Given the description of an element on the screen output the (x, y) to click on. 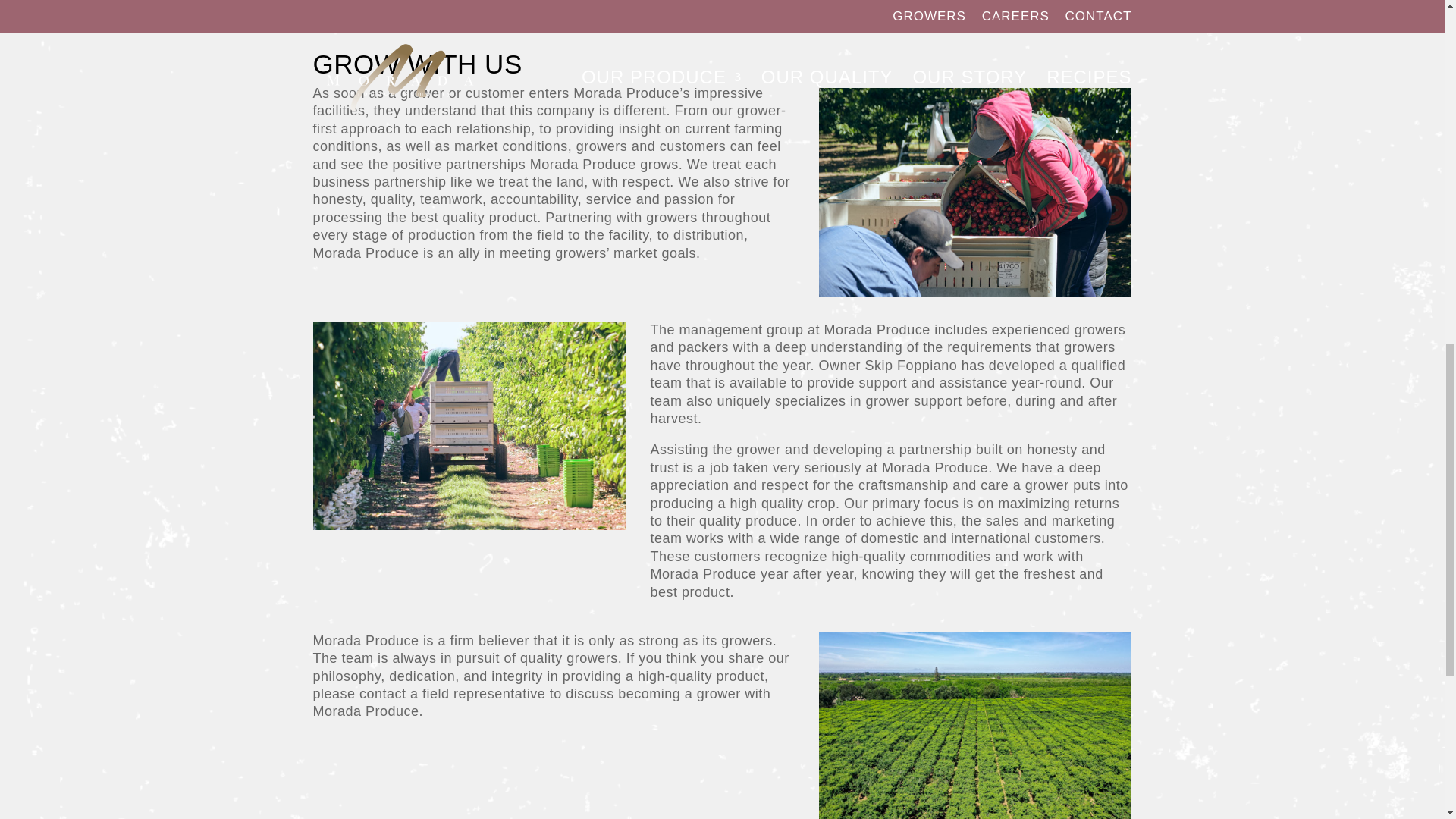
growers2 (975, 725)
growers2 (975, 191)
careers (469, 425)
